Given the description of an element on the screen output the (x, y) to click on. 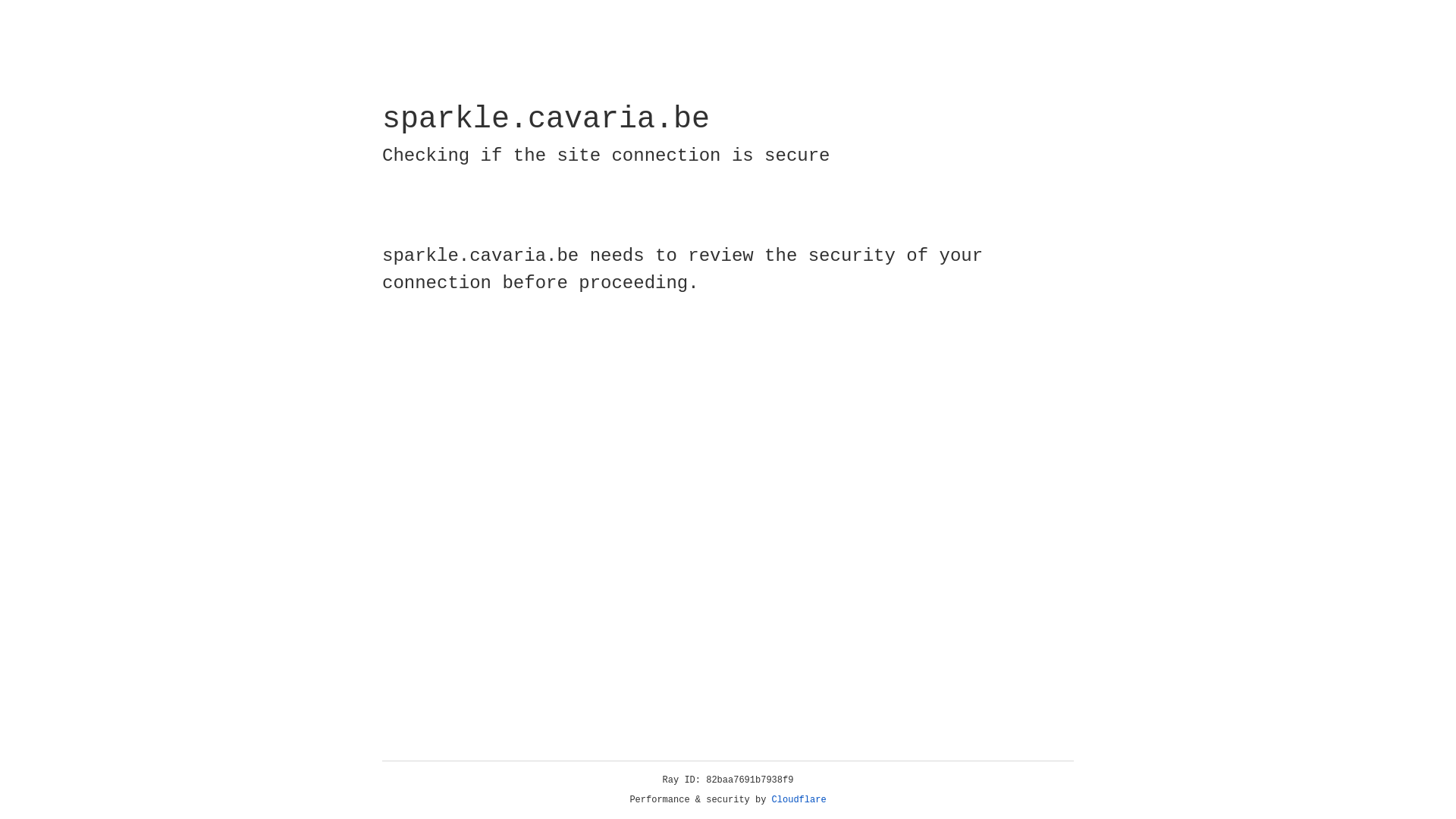
Cloudflare Element type: text (798, 799)
